Given the description of an element on the screen output the (x, y) to click on. 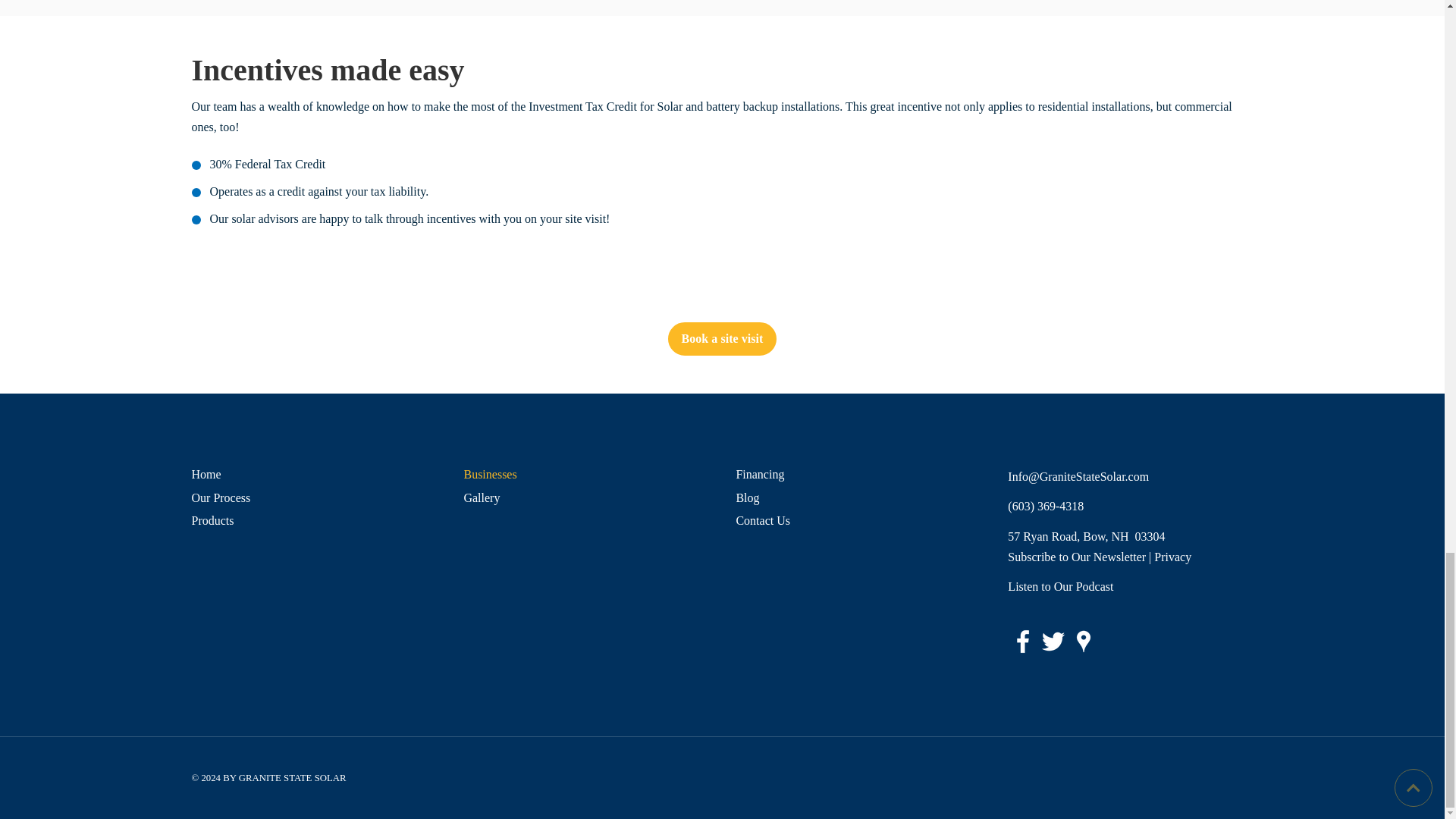
Gallery (585, 497)
Blog (857, 497)
Businesses (585, 474)
Home (312, 474)
Our Process (312, 497)
Book a site visit (722, 338)
Financing (857, 474)
Products (312, 520)
